Given the description of an element on the screen output the (x, y) to click on. 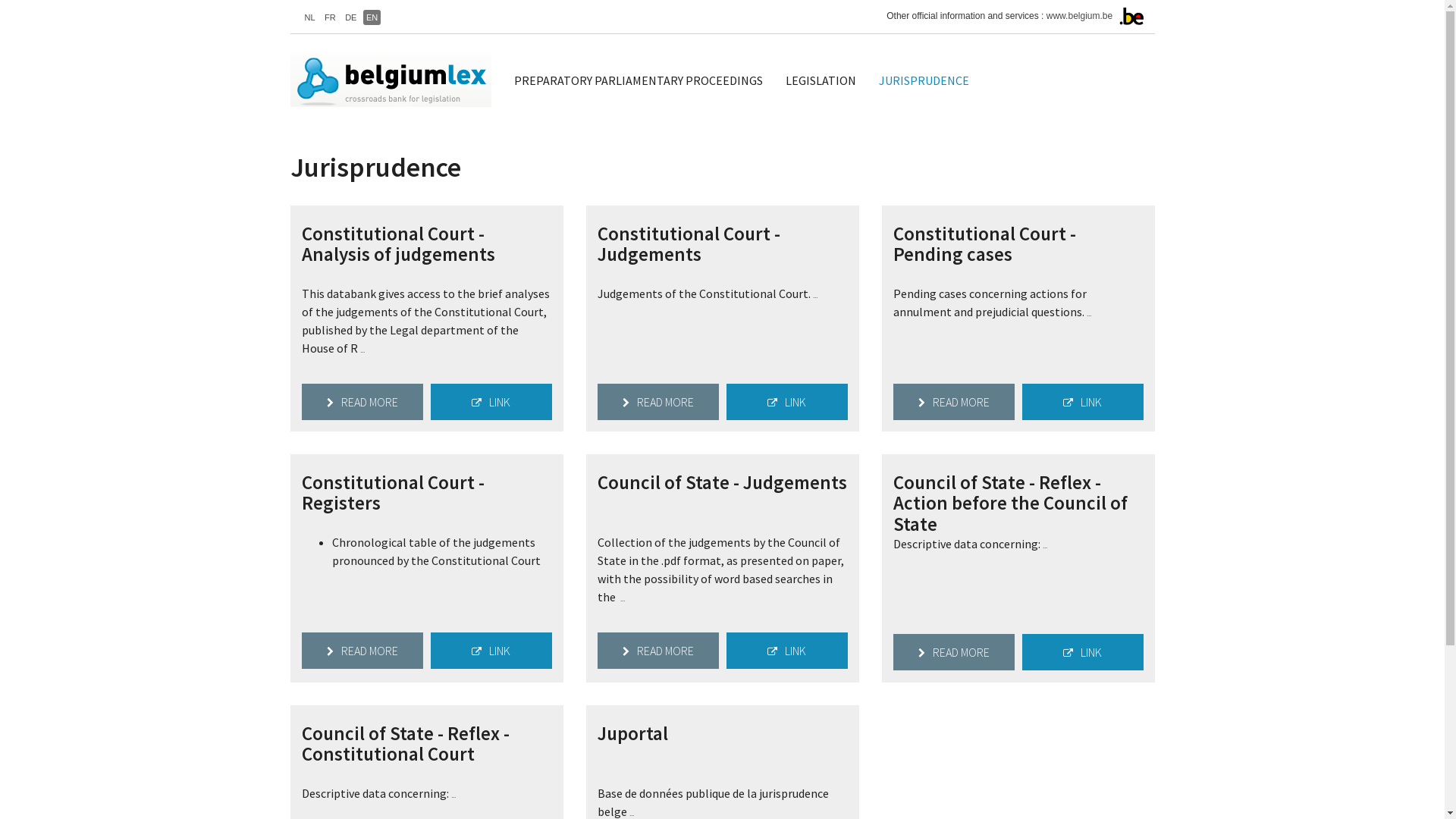
www.belgium.be Element type: text (1079, 15)
READ MORE Element type: text (362, 650)
READ MORE Element type: text (362, 401)
READ MORE Element type: text (953, 401)
LINK Element type: text (491, 401)
Skip to main content Element type: text (0, 0)
LEGISLATION Element type: text (819, 80)
Home Element type: hover (395, 79)
READ MORE Element type: text (657, 401)
READ MORE Element type: text (657, 650)
LINK Element type: text (1082, 651)
NL Element type: text (309, 17)
JURISPRUDENCE Element type: text (923, 80)
LINK Element type: text (786, 650)
LINK Element type: text (1082, 401)
DE Element type: text (350, 17)
FR Element type: text (329, 17)
EN Element type: text (371, 17)
PREPARATORY PARLIAMENTARY PROCEEDINGS Element type: text (637, 80)
READ MORE Element type: text (953, 651)
LINK Element type: text (786, 401)
LINK Element type: text (491, 650)
